Given the description of an element on the screen output the (x, y) to click on. 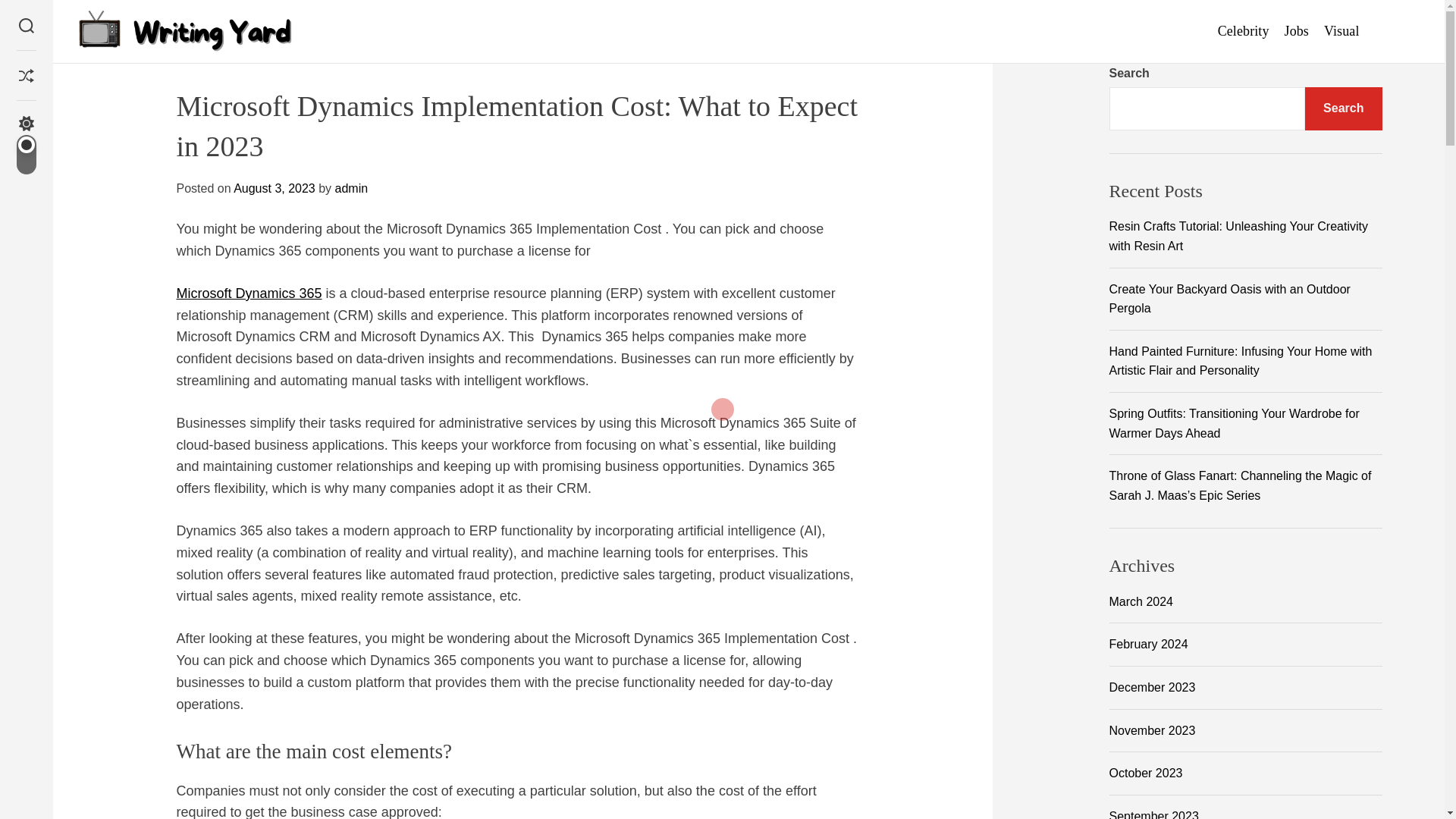
admin (351, 187)
Visual (1341, 31)
Shuffle (26, 75)
August 3, 2023 (273, 187)
Search (1342, 108)
Celebrity (1243, 31)
Microsoft Dynamics 365 (248, 293)
Search (26, 25)
Create Your Backyard Oasis with an Outdoor Pergola (1228, 298)
